Given the description of an element on the screen output the (x, y) to click on. 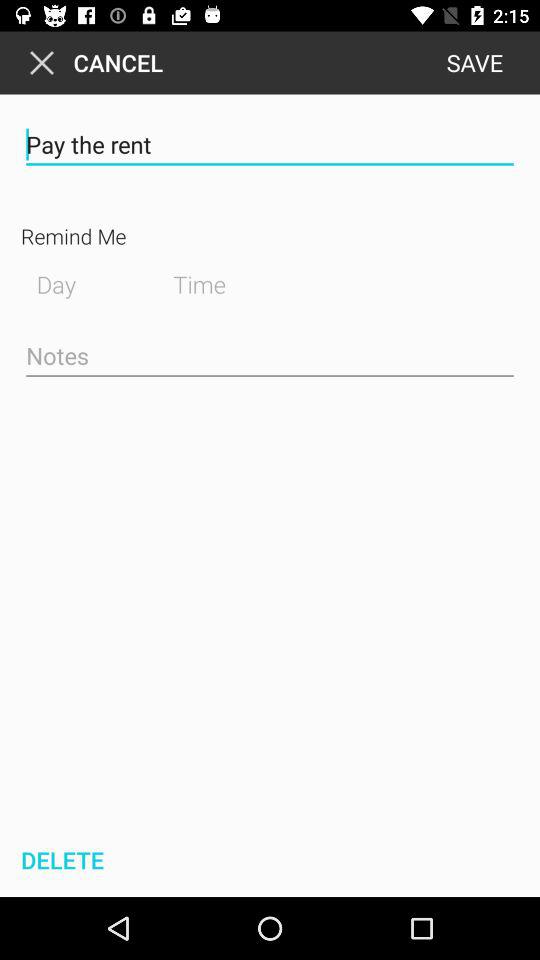
scroll until the day (78, 281)
